Given the description of an element on the screen output the (x, y) to click on. 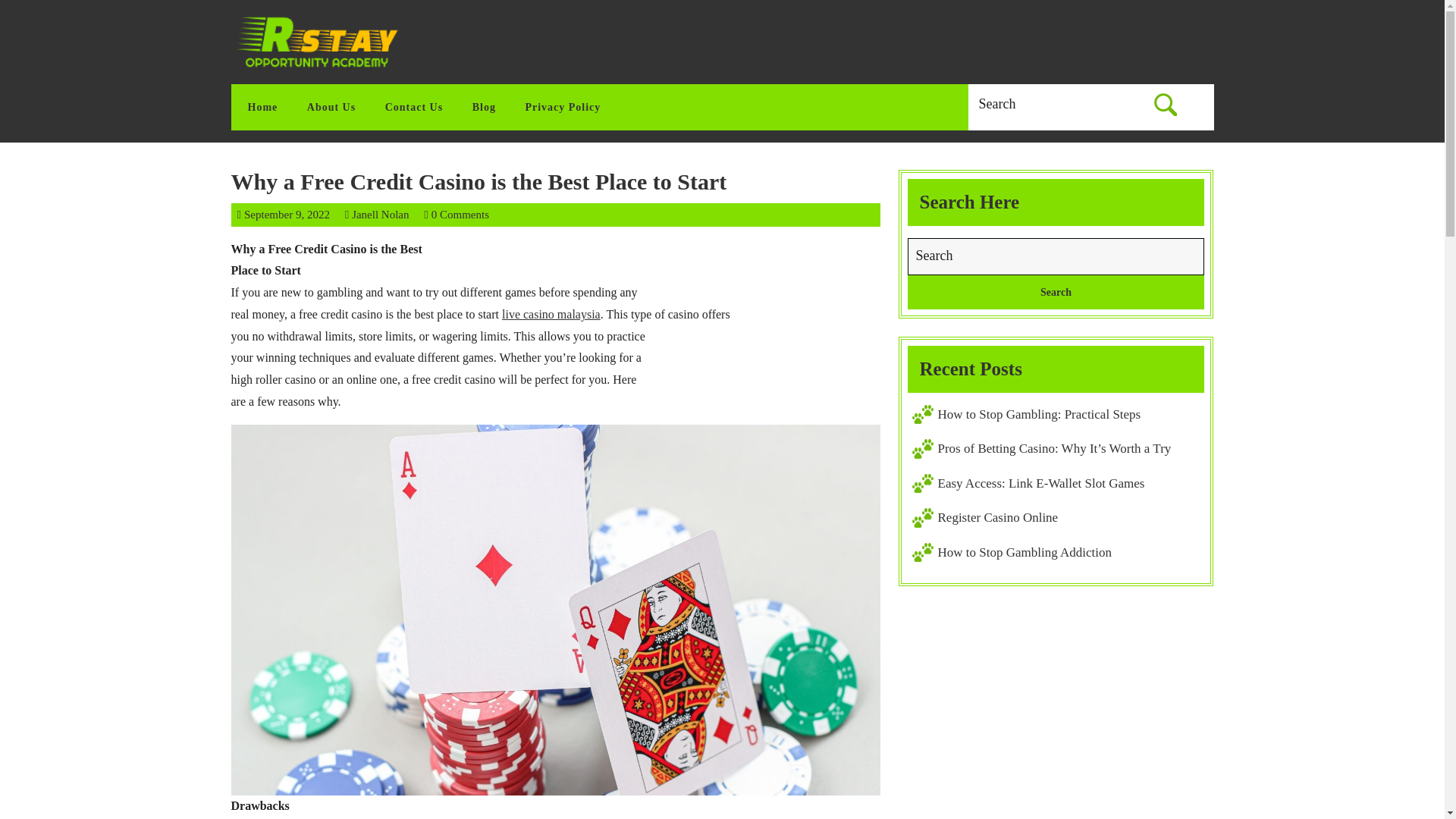
live casino malaysia (550, 314)
Search (1055, 292)
Privacy Policy (568, 107)
Blog (489, 107)
Search (1165, 104)
Search (1055, 292)
Search (1165, 104)
How to Stop Gambling Addiction (1024, 552)
Search (287, 214)
